Given the description of an element on the screen output the (x, y) to click on. 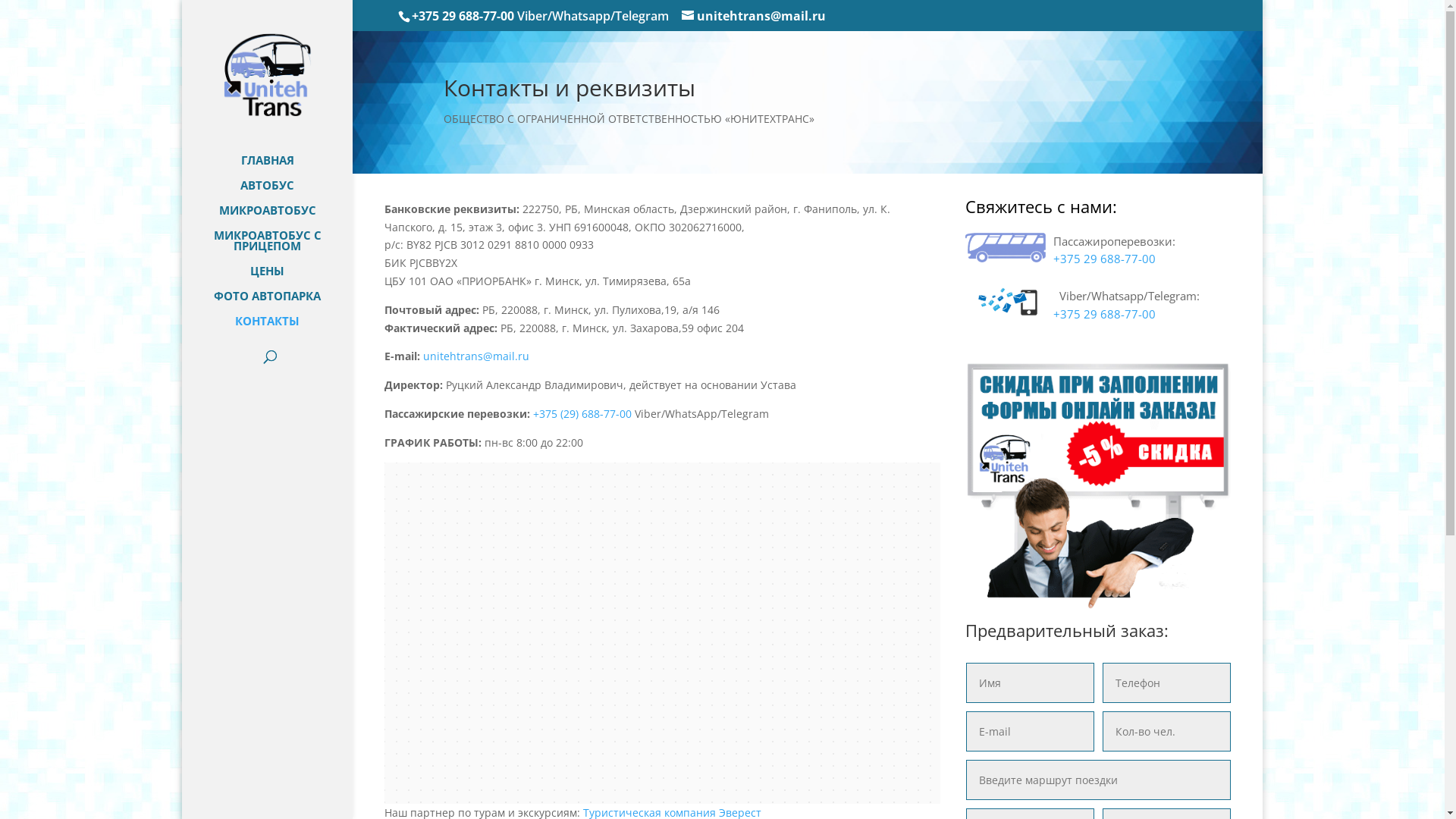
unitehtrans@mail.ru Element type: text (753, 15)
+375 29 688-77-00 Element type: text (1104, 313)
unitehtrans@mail.ru Element type: text (476, 355)
+375 29 688-77-00 Element type: text (462, 15)
+375 (29) 688-77-00 Element type: text (582, 413)
+375 29 688-77-00 Element type: text (1104, 258)
